Given the description of an element on the screen output the (x, y) to click on. 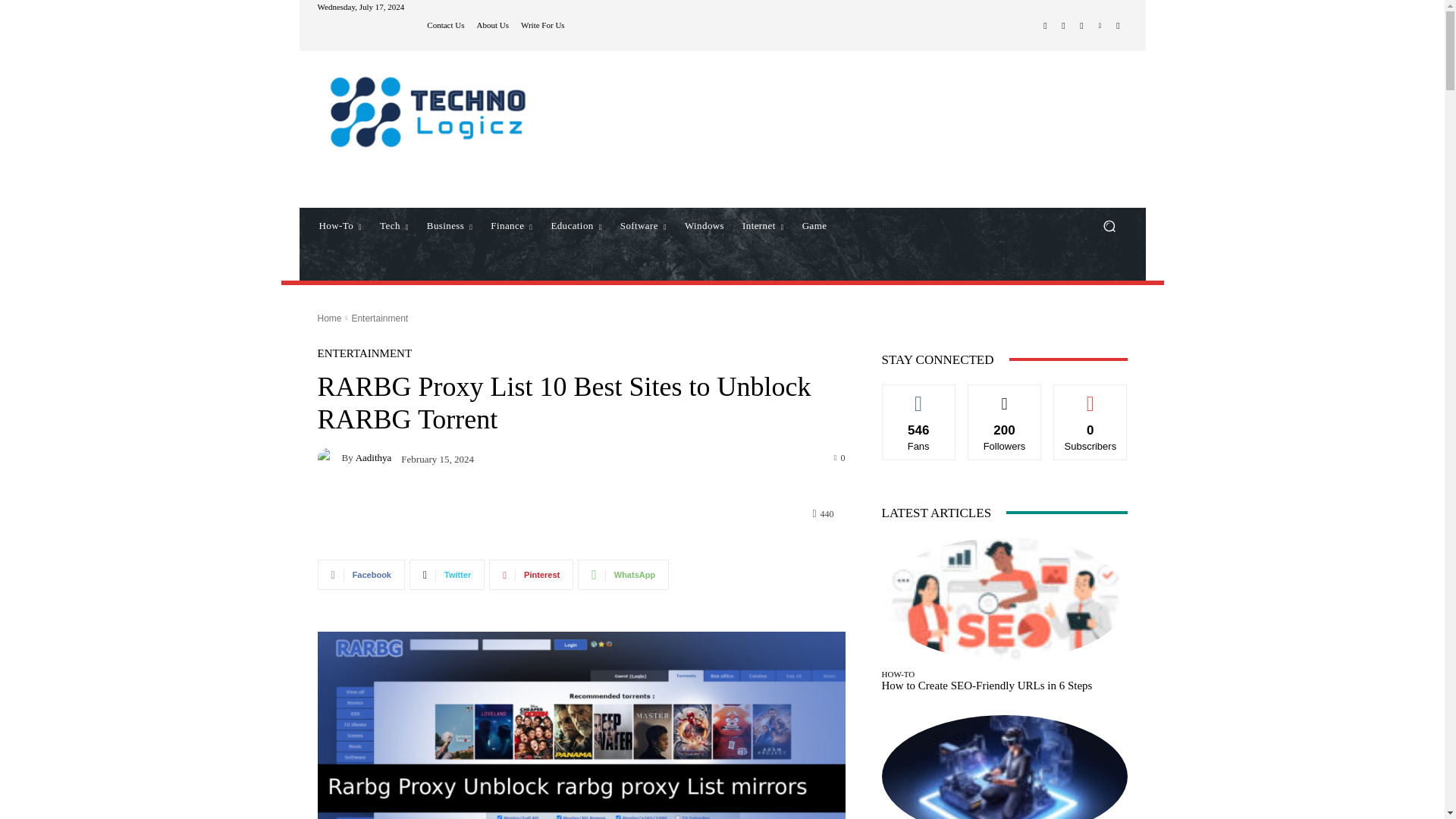
Contact Us (445, 25)
Youtube (1117, 25)
Instagram (1062, 25)
About Us (492, 25)
Facebook (1044, 25)
Vimeo (1099, 25)
Twitter (1080, 25)
How-To (339, 226)
Write For Us (542, 25)
Technologicz  (425, 111)
